Given the description of an element on the screen output the (x, y) to click on. 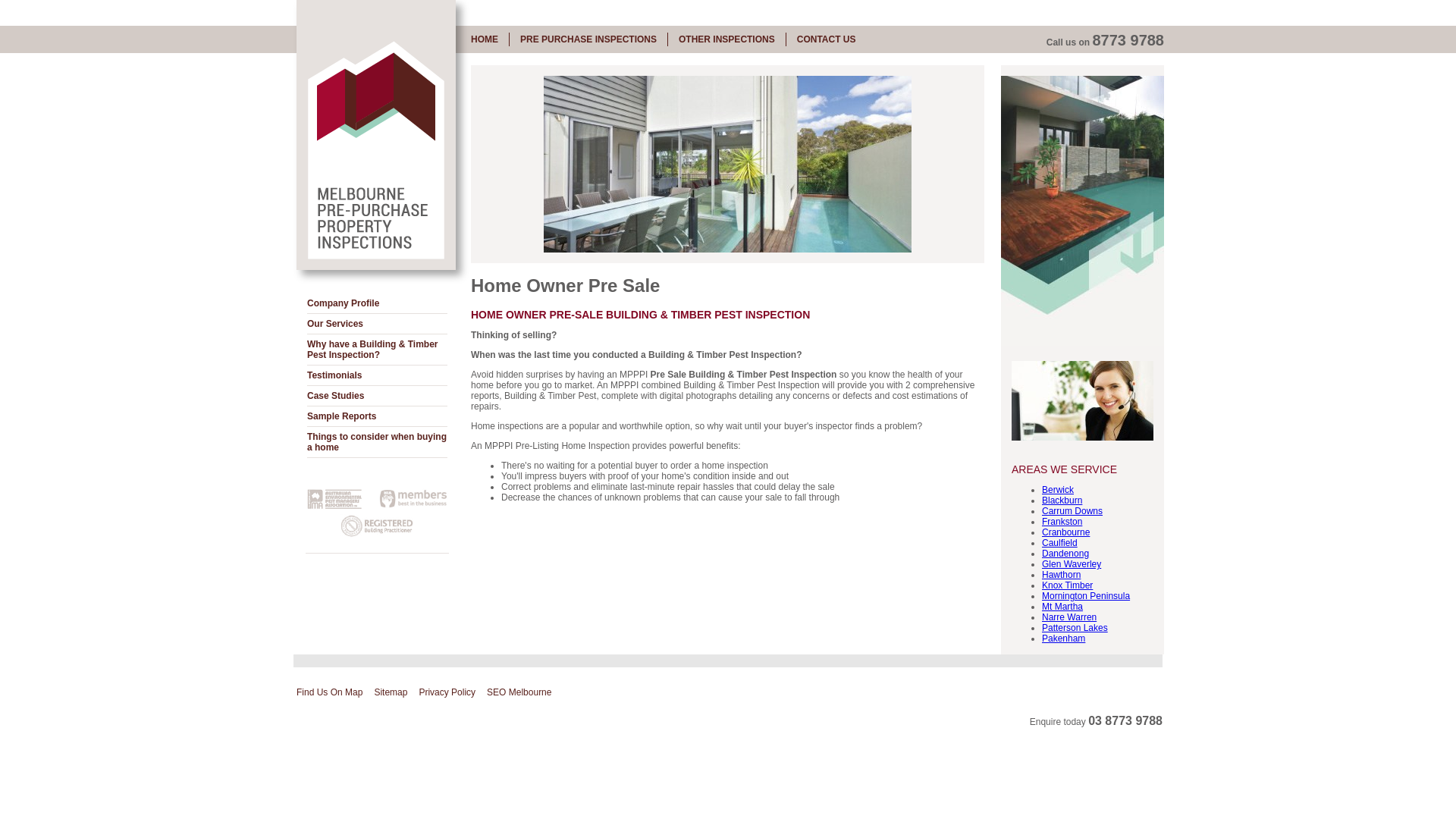
Caulfield Element type: text (1059, 542)
Patterson Lakes Element type: text (1074, 627)
SEO Melbourne Element type: text (518, 692)
Mt Martha Element type: text (1061, 606)
Company Profile Element type: text (377, 303)
Carrum Downs Element type: text (1071, 510)
Hawthorn Element type: text (1060, 574)
Case Studies Element type: text (377, 395)
Our Services Element type: text (377, 323)
Things to consider when buying a home Element type: text (377, 442)
Mornington Peninsula Element type: text (1085, 595)
Cranbourne Element type: text (1065, 532)
Narre Warren Element type: text (1068, 616)
Frankston Element type: text (1061, 521)
Pakenham Element type: text (1063, 638)
OTHER INSPECTIONS Element type: text (726, 39)
Testimonials Element type: text (377, 375)
Find Us On Map Element type: text (329, 692)
Knox Timber Element type: text (1066, 585)
Glen Waverley Element type: text (1071, 563)
Blackburn Element type: text (1061, 500)
Sitemap Element type: text (390, 692)
CONTACT US Element type: text (826, 39)
Berwick Element type: text (1057, 489)
Dandenong Element type: text (1064, 553)
Why have a Building & Timber Pest Inspection? Element type: text (377, 349)
PRE PURCHASE INSPECTIONS Element type: text (588, 39)
Privacy Policy Element type: text (446, 692)
Sample Reports Element type: text (377, 416)
HOME Element type: text (484, 39)
